Given the description of an element on the screen output the (x, y) to click on. 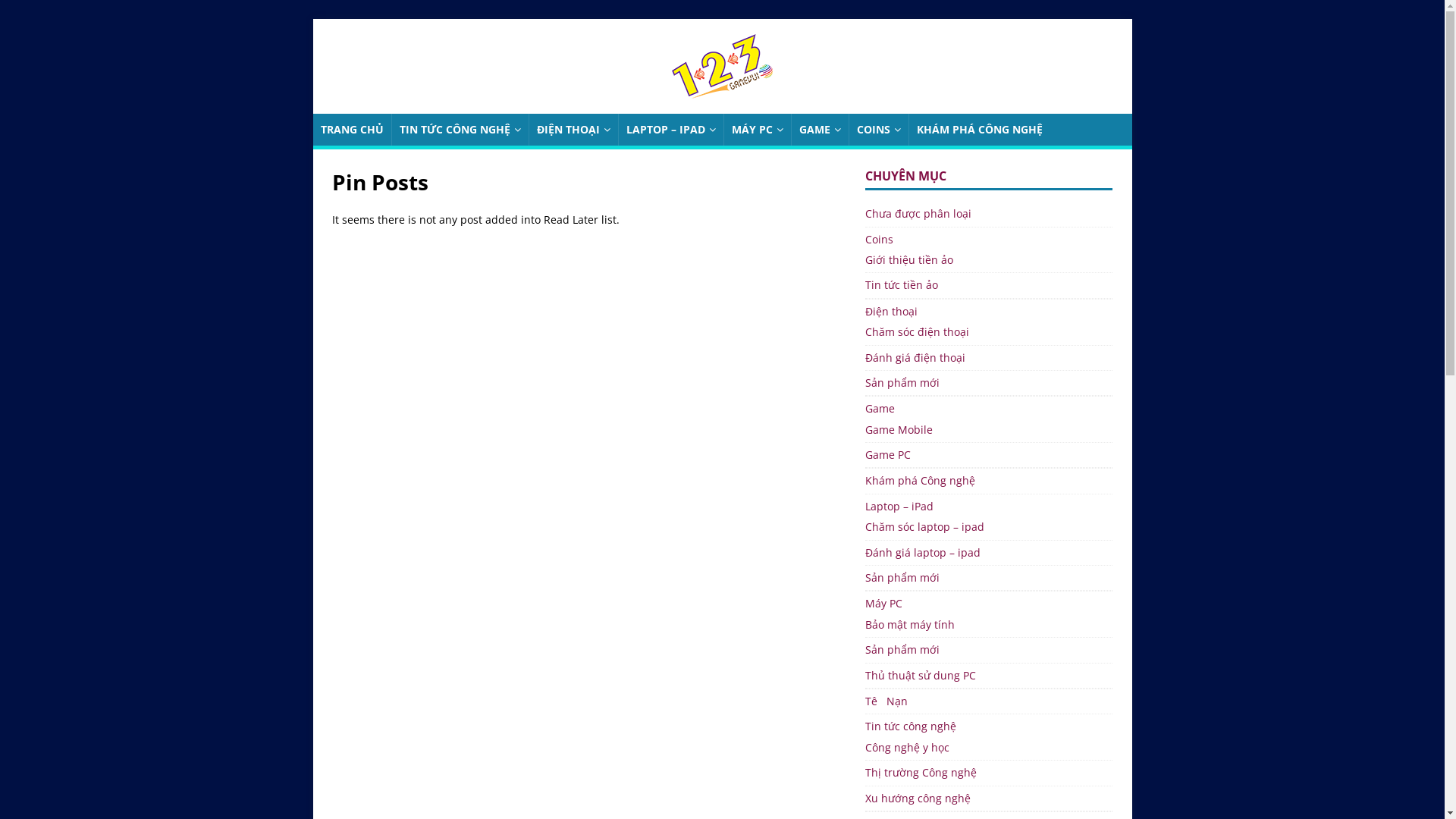
Game Element type: text (988, 408)
COINS Element type: text (877, 129)
Coins Element type: text (988, 239)
GAME Element type: text (818, 129)
Game PC Element type: text (988, 454)
Game Mobile Element type: text (988, 431)
